Given the description of an element on the screen output the (x, y) to click on. 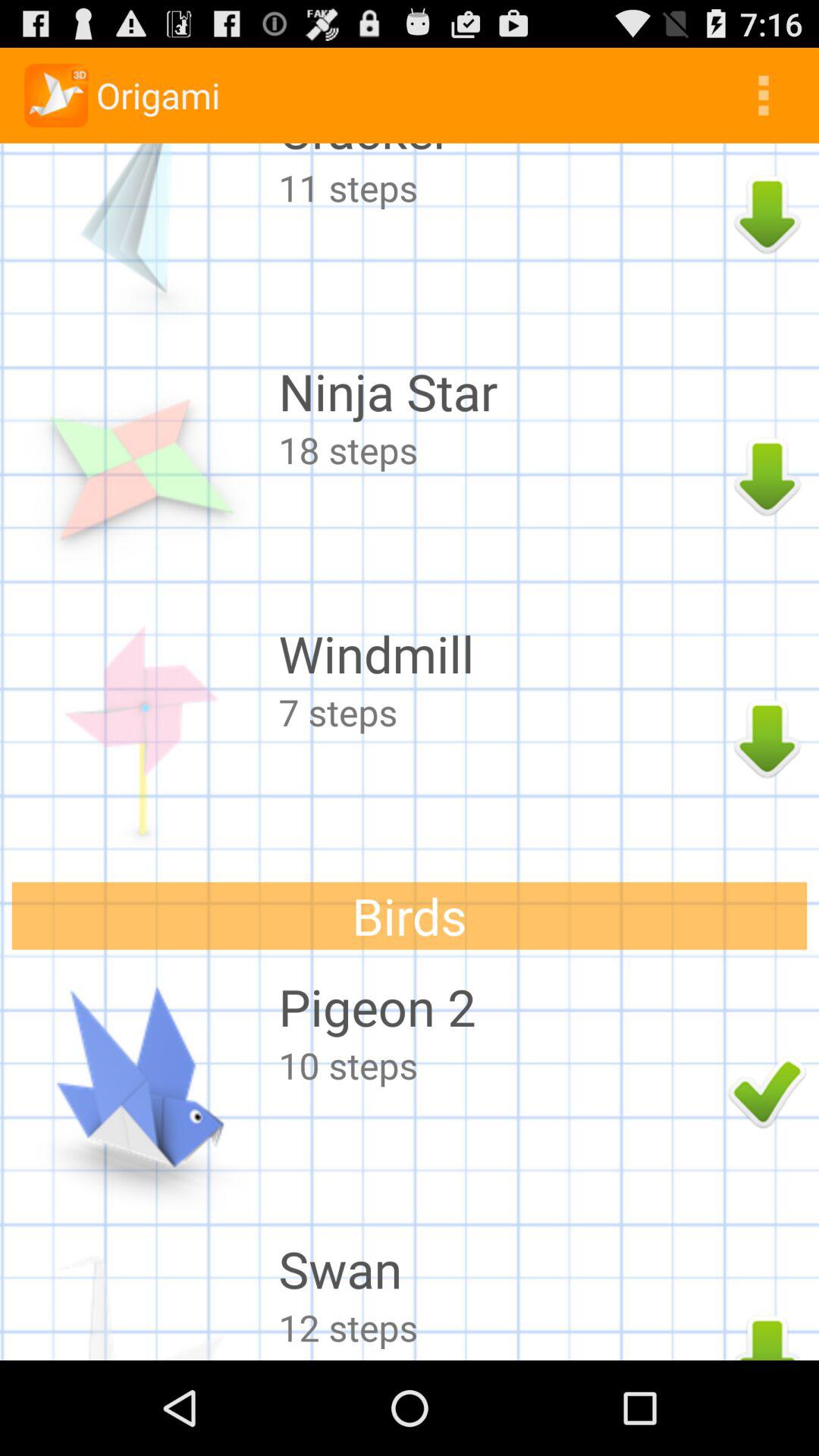
swipe until the 10 steps app (498, 1064)
